Given the description of an element on the screen output the (x, y) to click on. 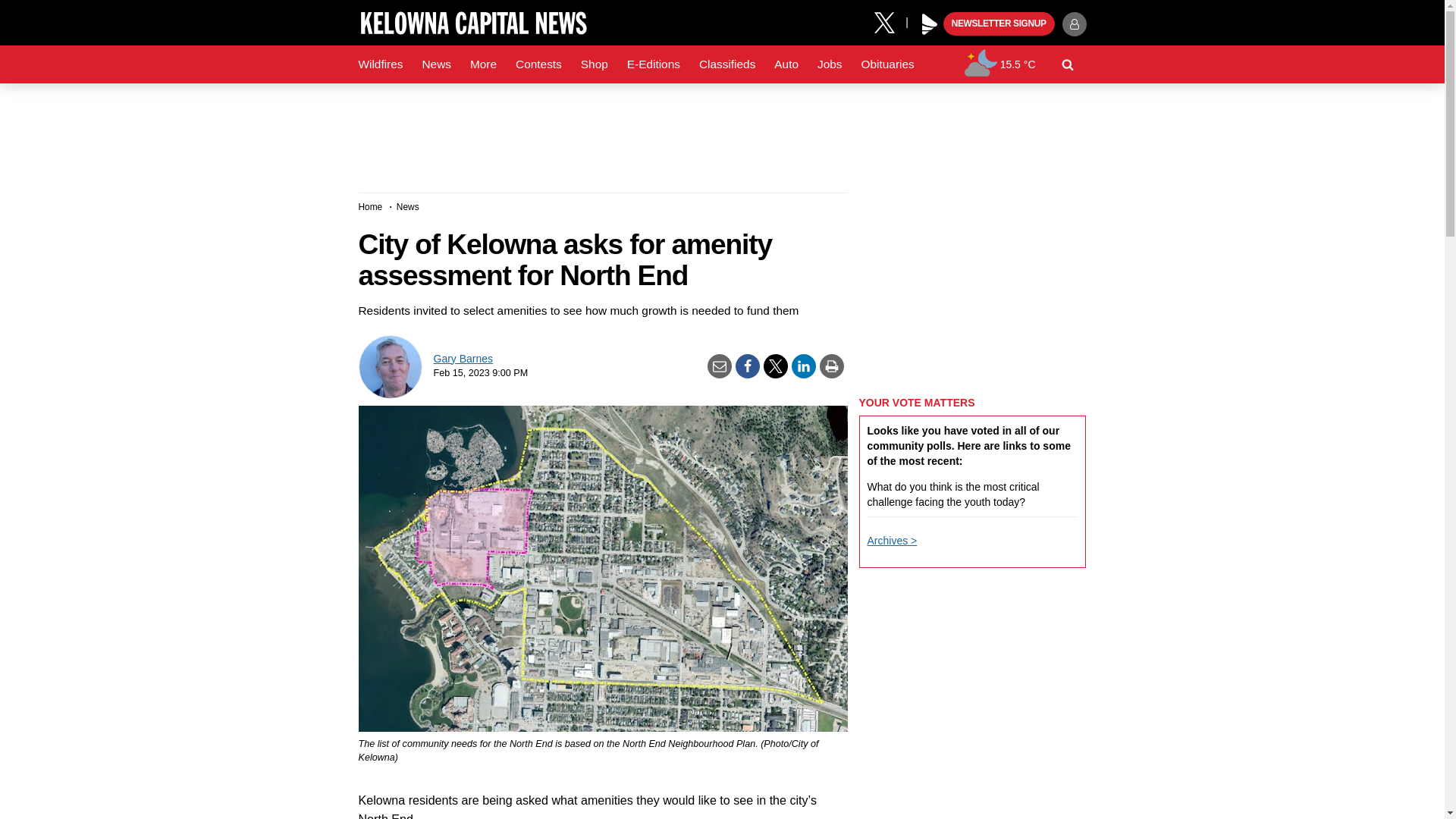
Play (929, 24)
NEWSLETTER SIGNUP (998, 24)
X (889, 21)
Wildfires (380, 64)
News (435, 64)
Black Press Media (929, 24)
